Given the description of an element on the screen output the (x, y) to click on. 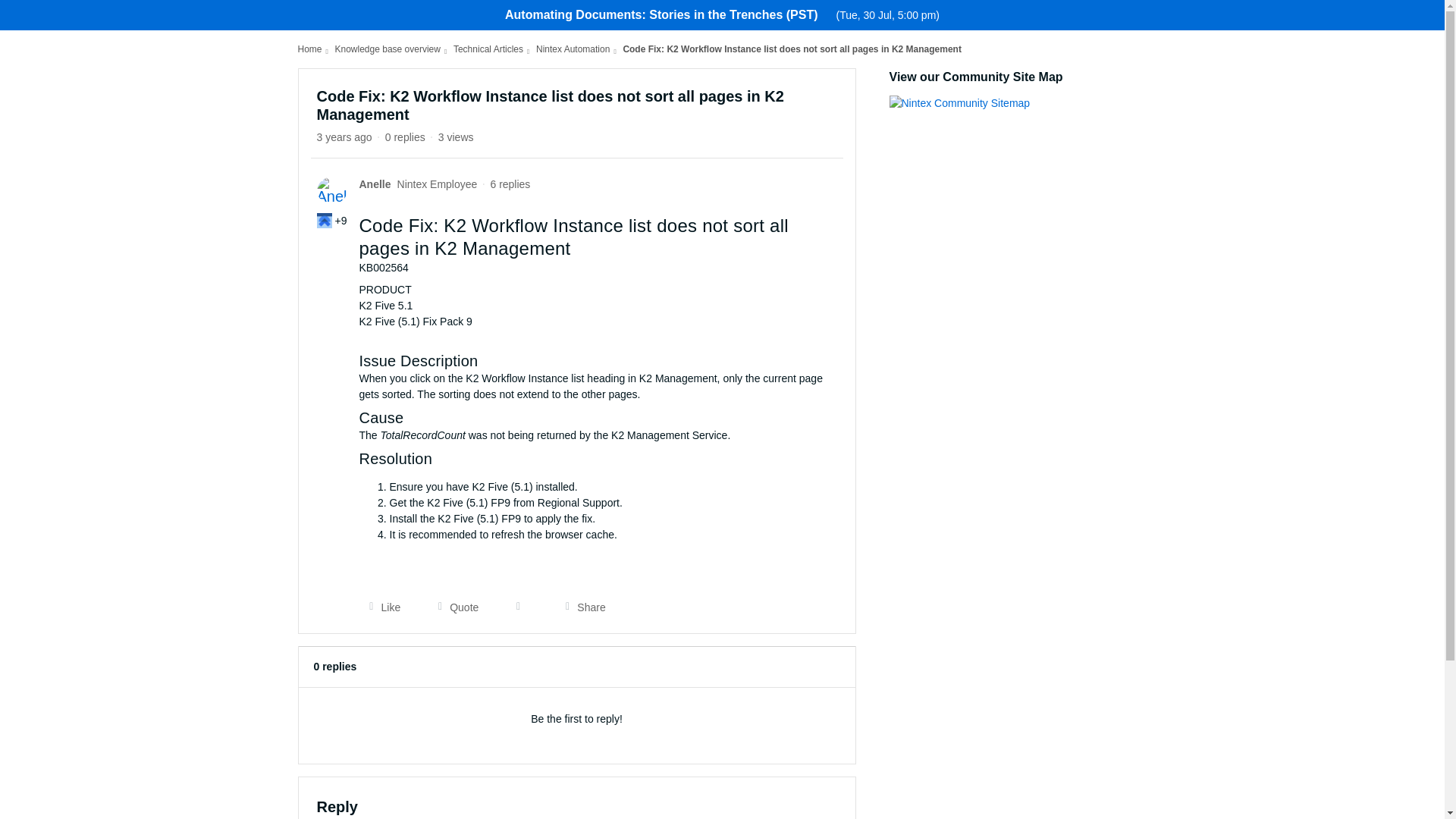
Knowledge base overview (387, 49)
Home (309, 49)
0 replies (405, 137)
Like (380, 607)
Anelle (375, 184)
Technical Articles (487, 49)
Nintex Automation (572, 49)
Quote (453, 607)
Keep it up (324, 220)
Anelle (375, 184)
